Given the description of an element on the screen output the (x, y) to click on. 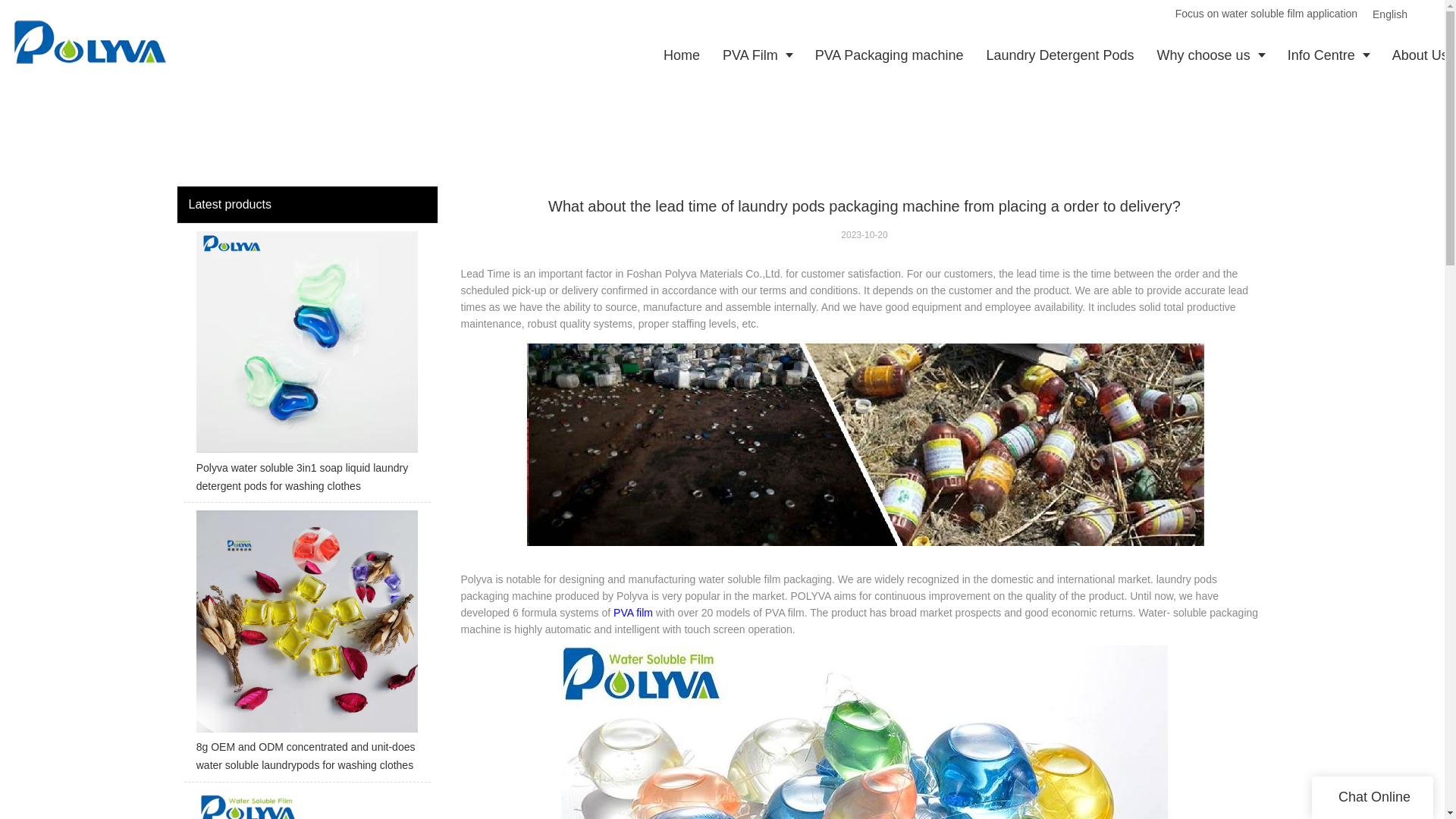
Laundry Detergent Pods (1059, 55)
hot sell laundry liquid cleaning scent pods (306, 804)
PVA Packaging machine (889, 55)
PVA Film (757, 55)
Info Centre (1328, 55)
PVA film (632, 612)
About Us (1418, 55)
Home (681, 55)
Why choose us (1210, 55)
